Given the description of an element on the screen output the (x, y) to click on. 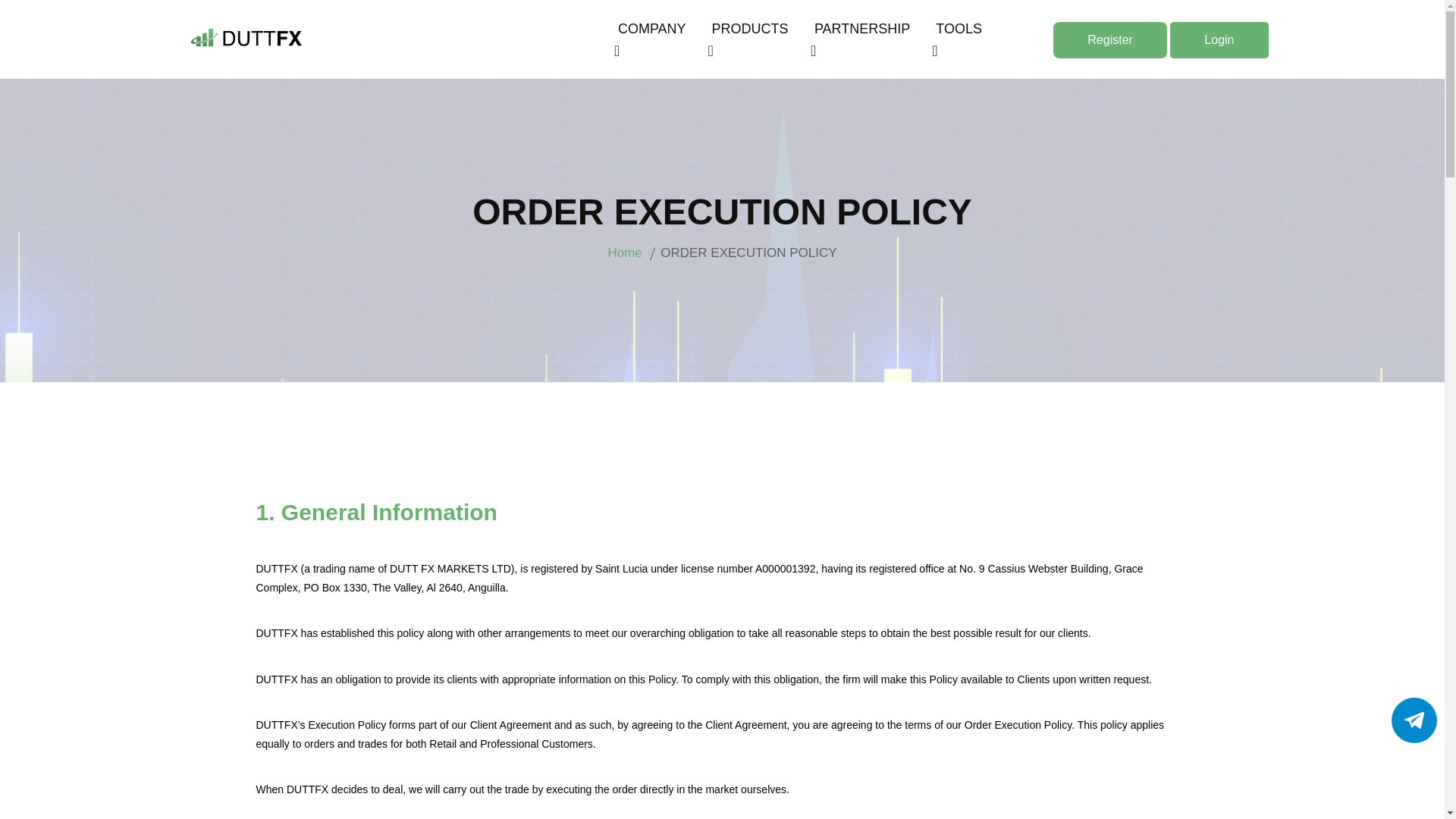
Register (1109, 40)
Login (1219, 40)
COMPANY (652, 39)
Home (624, 252)
PRODUCTS (751, 39)
PARTNERSHIP (862, 39)
TOOLS (960, 39)
